Given the description of an element on the screen output the (x, y) to click on. 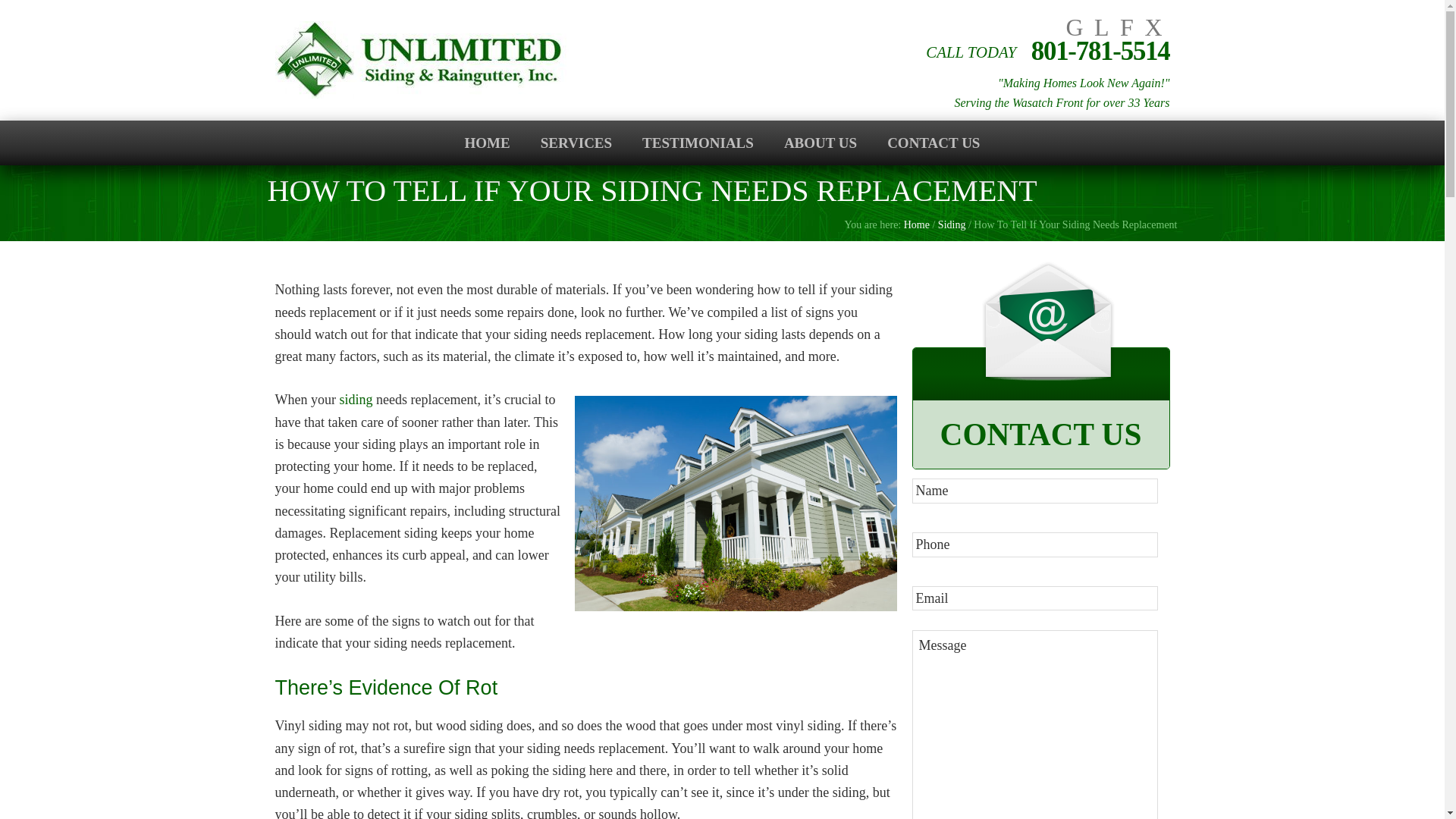
G (1074, 26)
F (1126, 26)
SERVICES (576, 142)
HOME (487, 142)
ABOUT US (820, 142)
801-781-5514 (1100, 51)
CONTACT US (932, 142)
X (1152, 26)
TESTIMONIALS (697, 142)
How To Tell If Your Siding Needs Replacement (735, 502)
Siding (951, 224)
Home (917, 224)
L (1101, 26)
siding (355, 399)
